Given the description of an element on the screen output the (x, y) to click on. 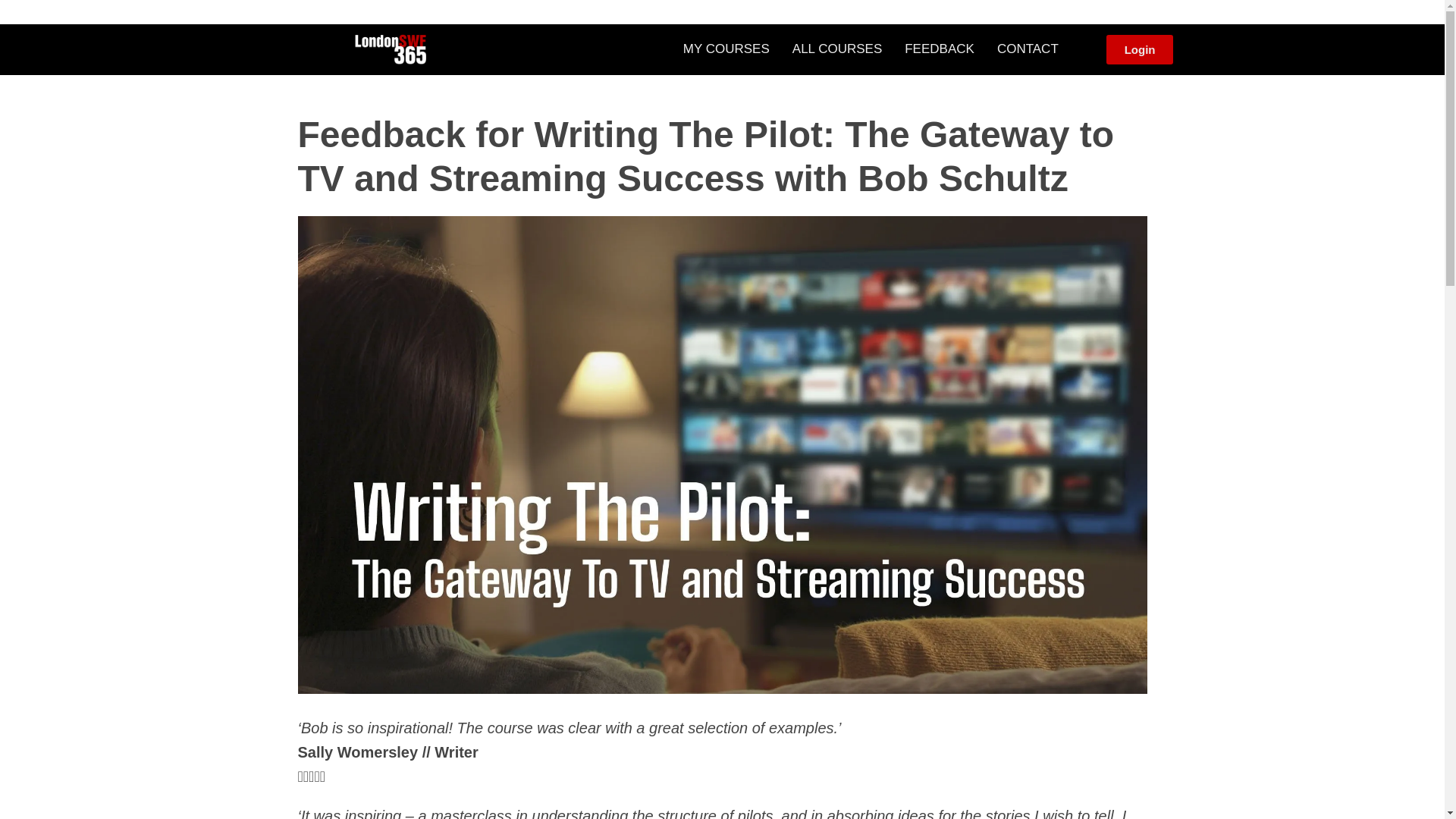
FEEDBACK (939, 48)
Login (1139, 49)
ALL COURSES (836, 48)
MY COURSES (725, 48)
CONTACT (1027, 48)
